Given the description of an element on the screen output the (x, y) to click on. 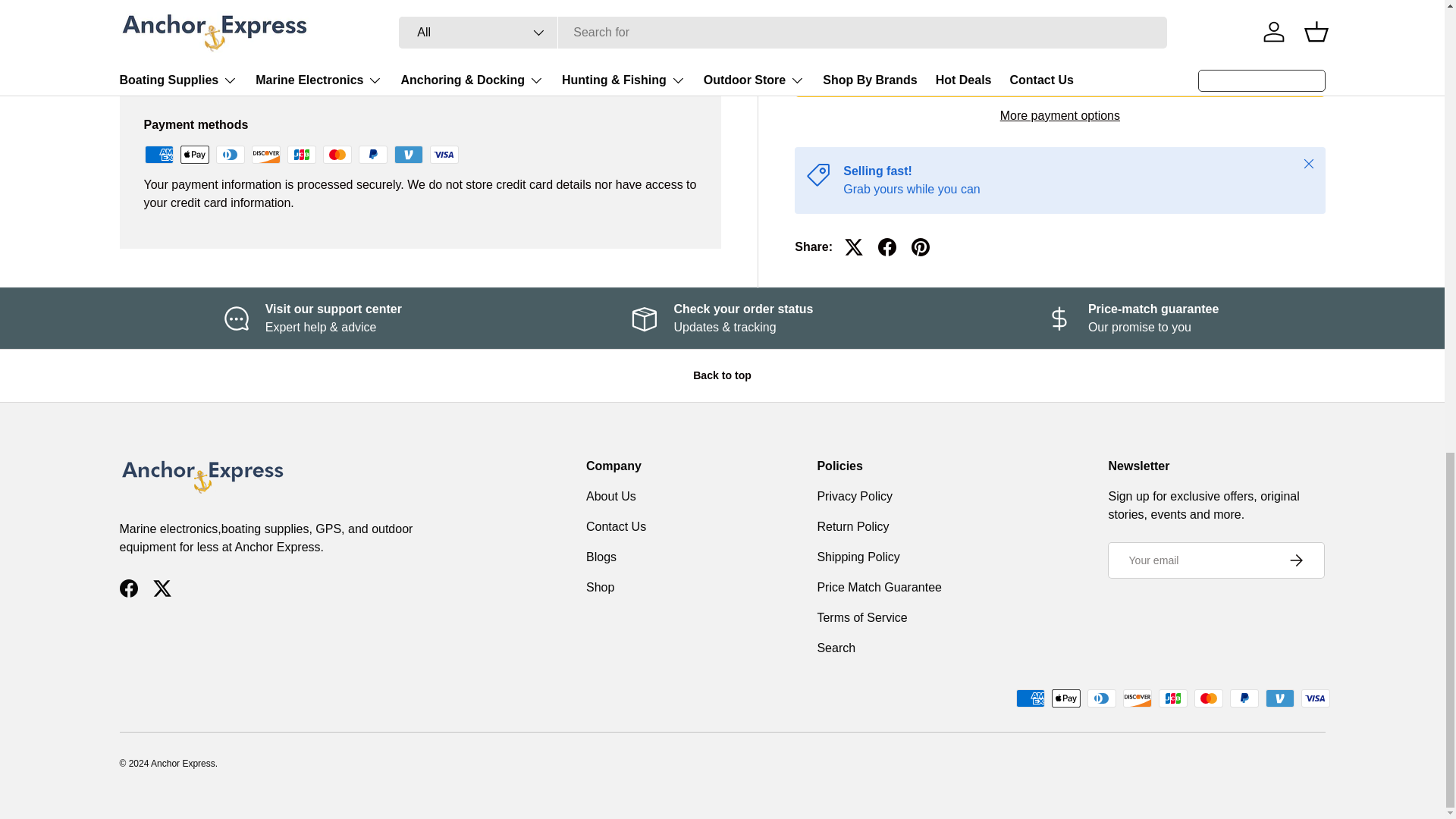
Anchor Express on Facebook (128, 588)
Share on Facebook (887, 89)
Anchor Express on Twitter (162, 588)
Pin on Pinterest (920, 89)
Tweet on X (853, 89)
